Given the description of an element on the screen output the (x, y) to click on. 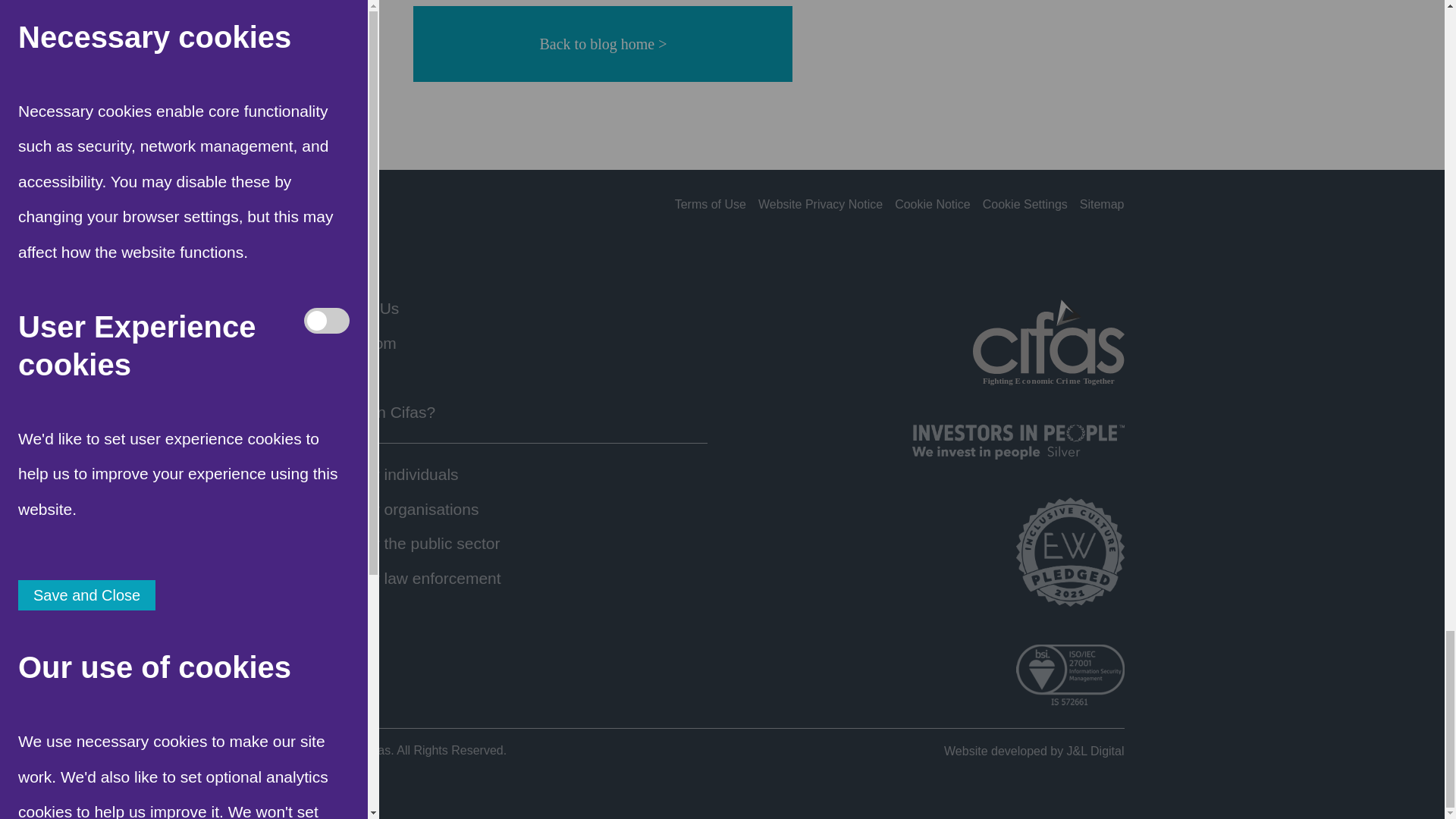
Twitter Page (358, 204)
LinkedIn Page (333, 204)
Facebook Page (384, 204)
YouTube Channel (410, 204)
